Given the description of an element on the screen output the (x, y) to click on. 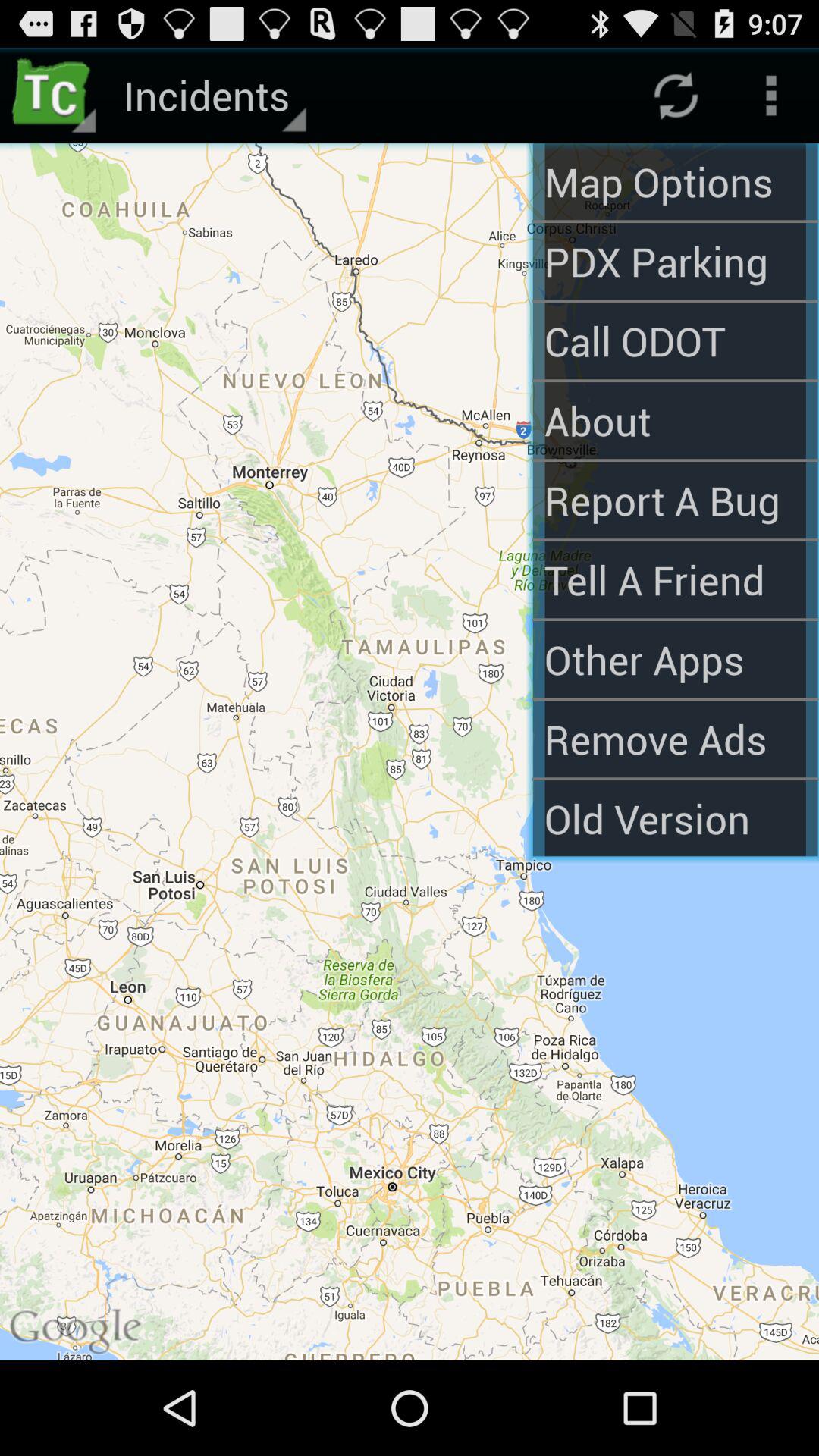
turn on tell a friend (675, 579)
